Given the description of an element on the screen output the (x, y) to click on. 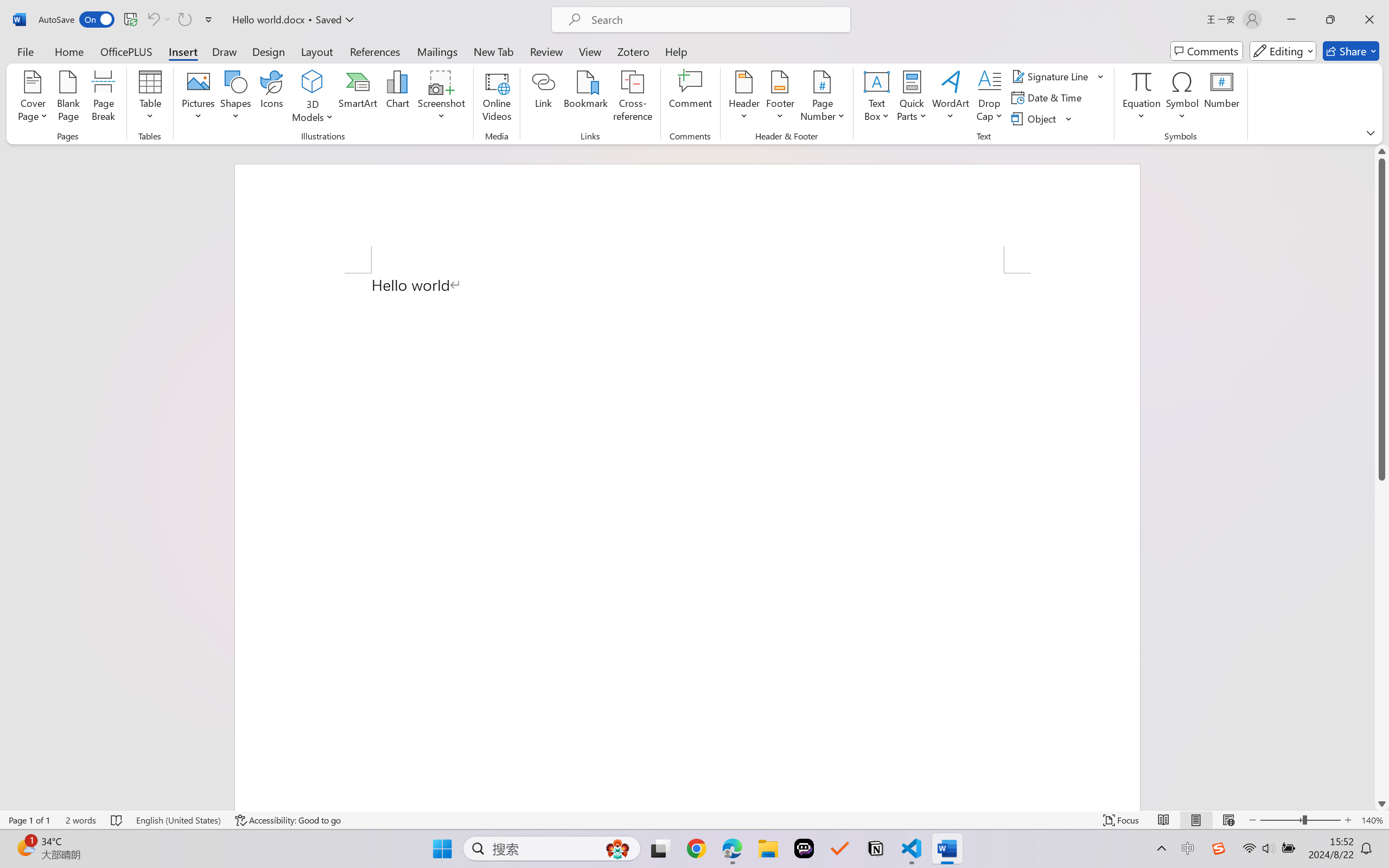
Class: MsoCommandBar (694, 819)
Line down (1382, 803)
Zotero (632, 51)
Read Mode (1163, 819)
Mode (1283, 50)
View (589, 51)
Object... (1035, 118)
Zoom 140% (1372, 819)
Restore Down (1330, 19)
Spelling and Grammar Check No Errors (117, 819)
AutomationID: BadgeAnchorLargeTicker (24, 847)
3D Models (312, 97)
Symbol (1181, 97)
Language English (United States) (178, 819)
Bookmark... (585, 97)
